Given the description of an element on the screen output the (x, y) to click on. 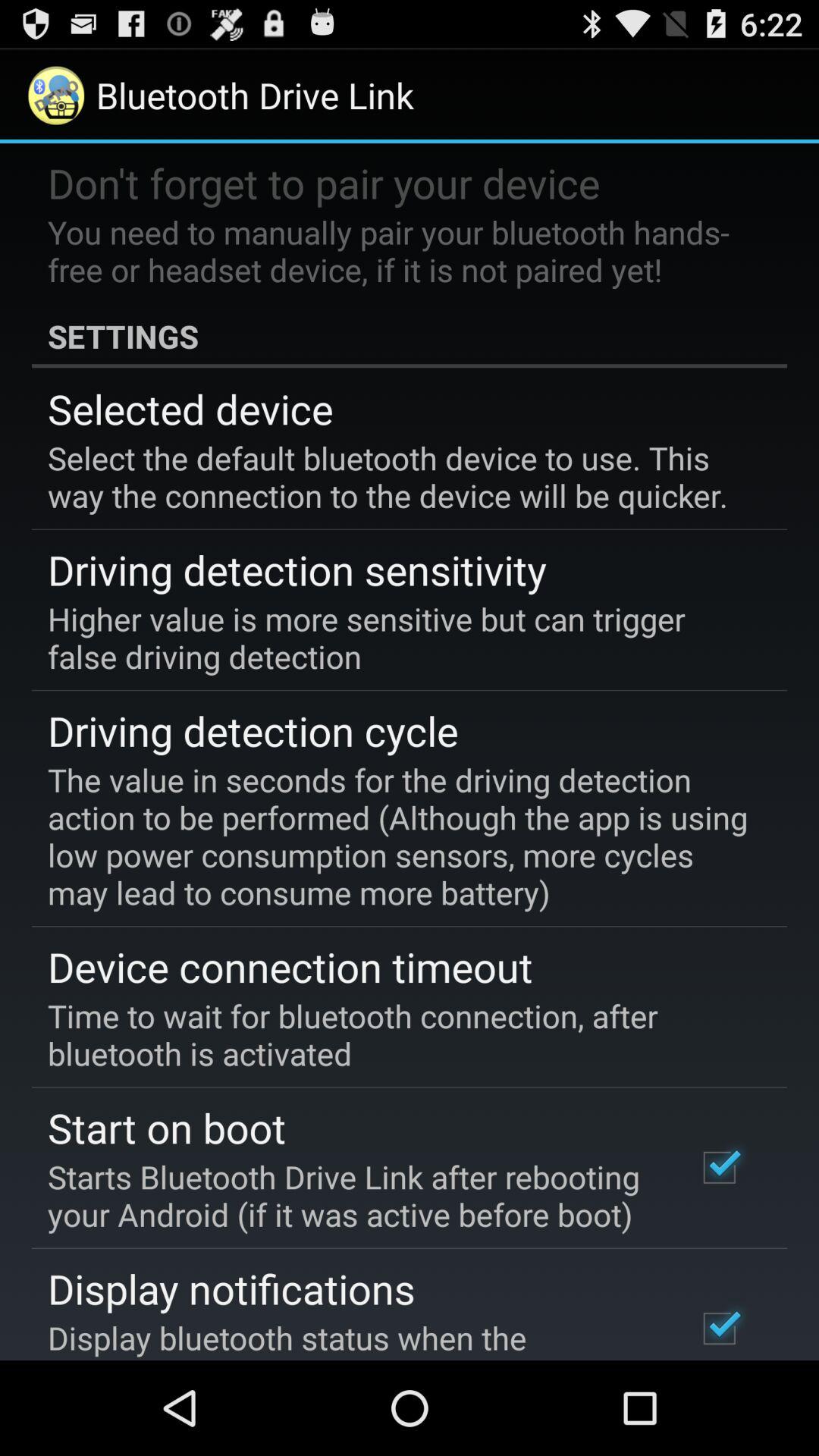
click the item below display notifications icon (351, 1338)
